Given the description of an element on the screen output the (x, y) to click on. 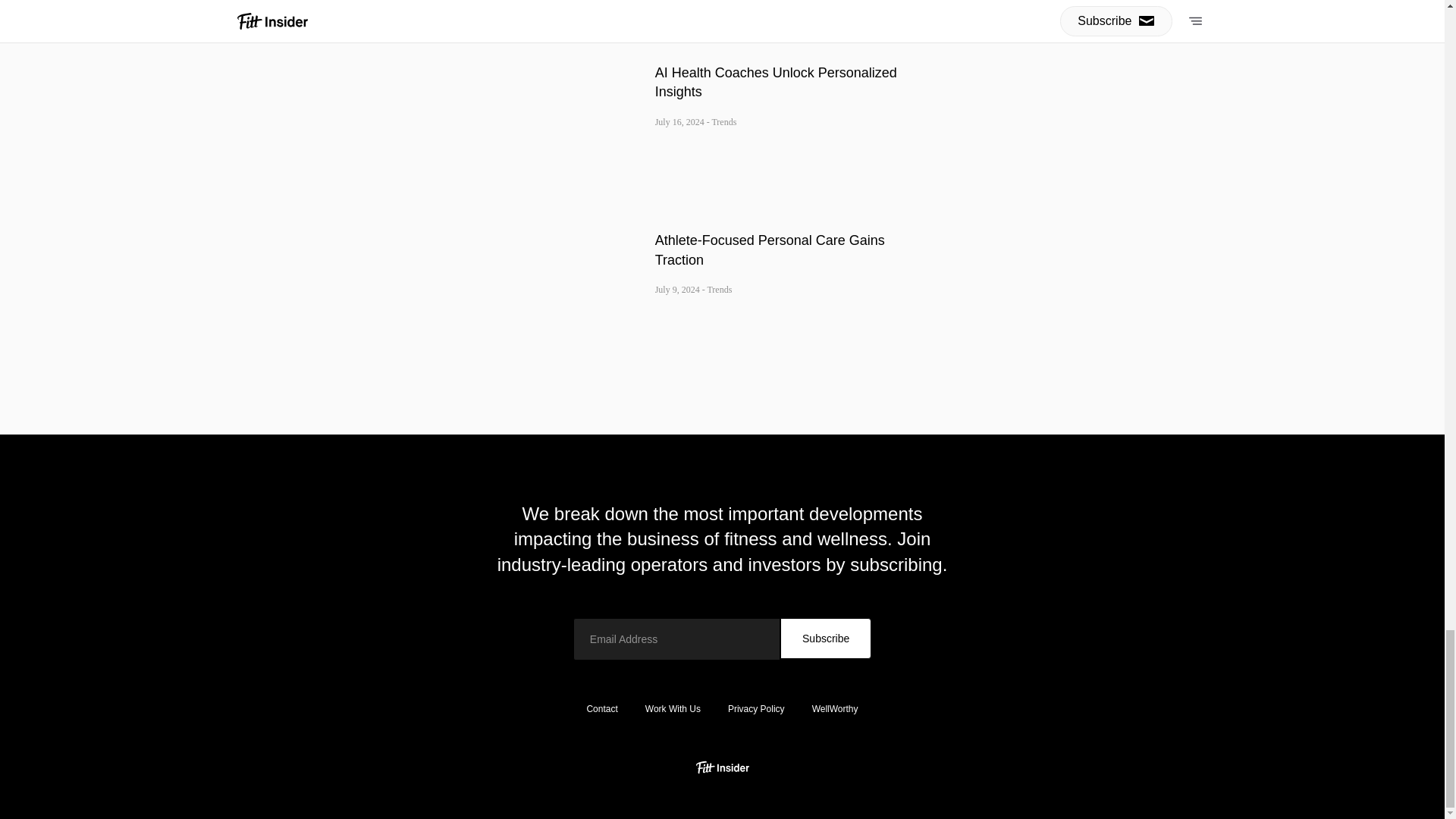
Work With Us (672, 708)
Contact (601, 708)
Subscribe (825, 638)
WellWorthy (834, 708)
Subscribe (825, 638)
Privacy Policy (755, 708)
